Given the description of an element on the screen output the (x, y) to click on. 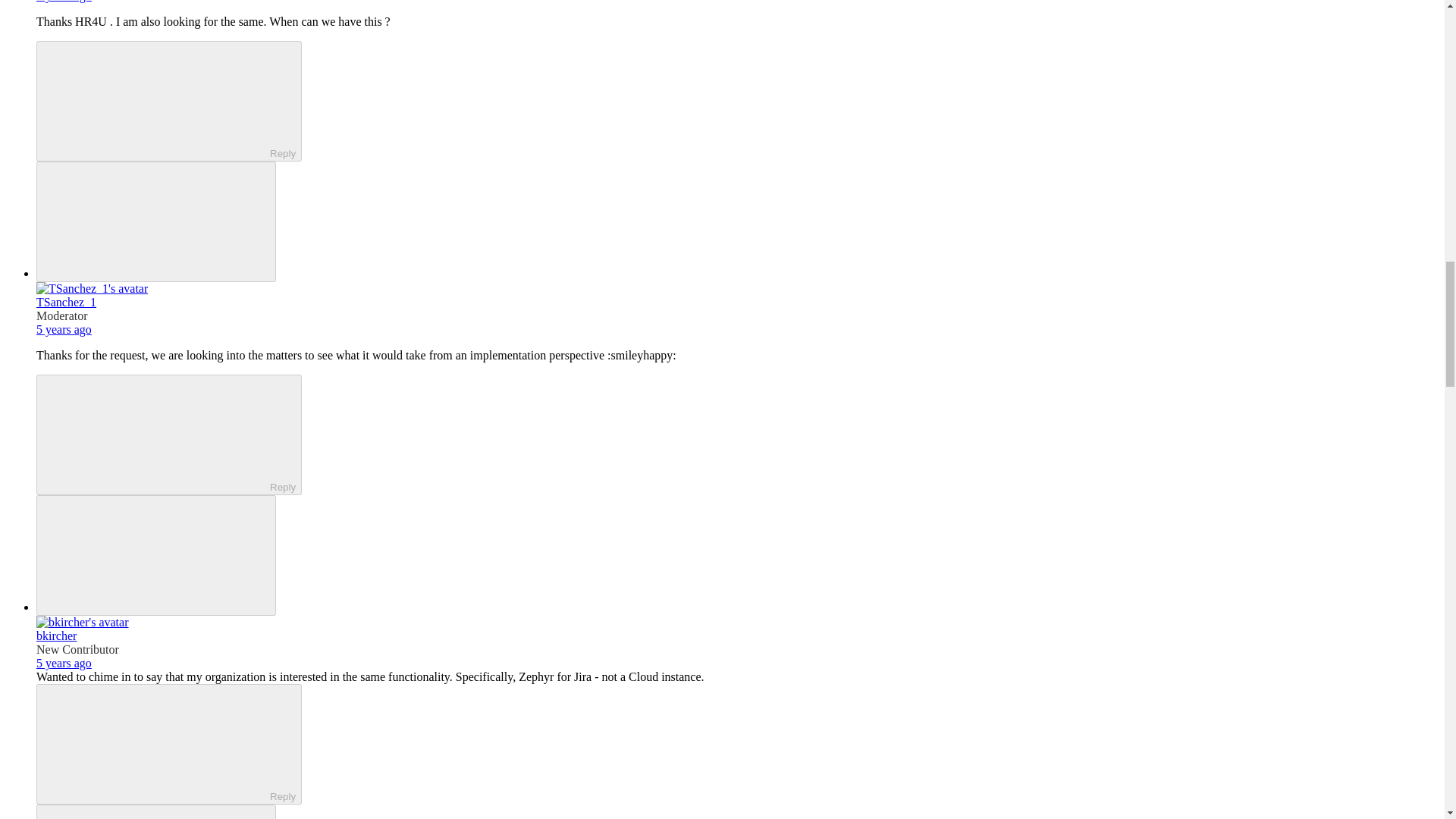
HR4U (90, 21)
5 years ago (63, 1)
Reply (155, 100)
ReplyReply (168, 100)
bkircher (56, 635)
5 years ago (63, 328)
ReplyReply (168, 434)
August 8, 2019 at 1:47 PM (63, 1)
August 14, 2019 at 8:33 PM (63, 328)
Reply (155, 743)
ReplyReply (168, 743)
August 27, 2019 at 6:51 PM (63, 662)
5 years ago (63, 662)
Reply (155, 433)
